Given the description of an element on the screen output the (x, y) to click on. 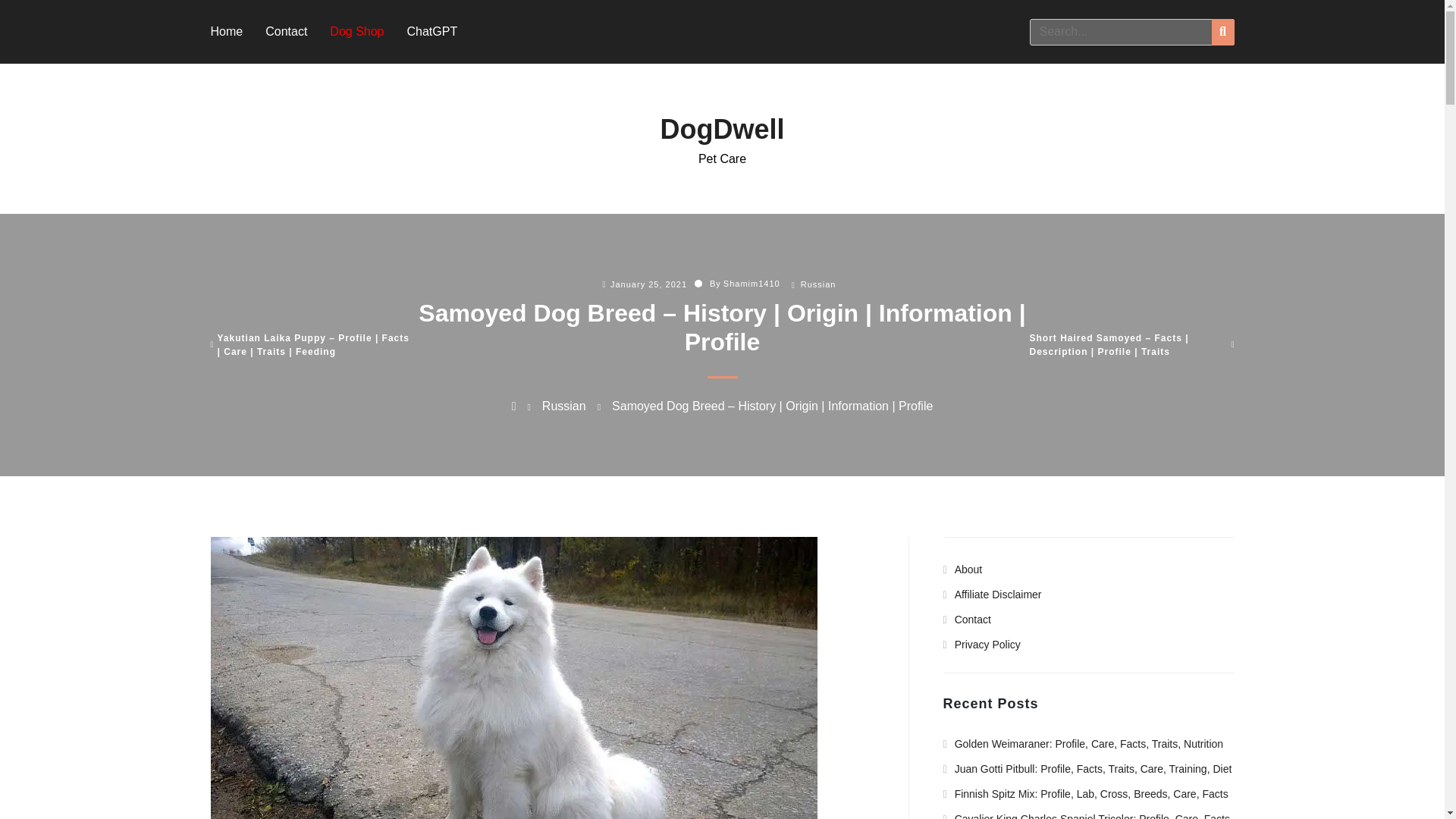
ChatGPT (431, 31)
Shamim1410 (751, 283)
Dog Shop (357, 31)
January 25, 2021 (648, 284)
DogDwell (721, 128)
Russian (563, 405)
Contact (285, 31)
Home (227, 31)
Russian (817, 284)
